Given the description of an element on the screen output the (x, y) to click on. 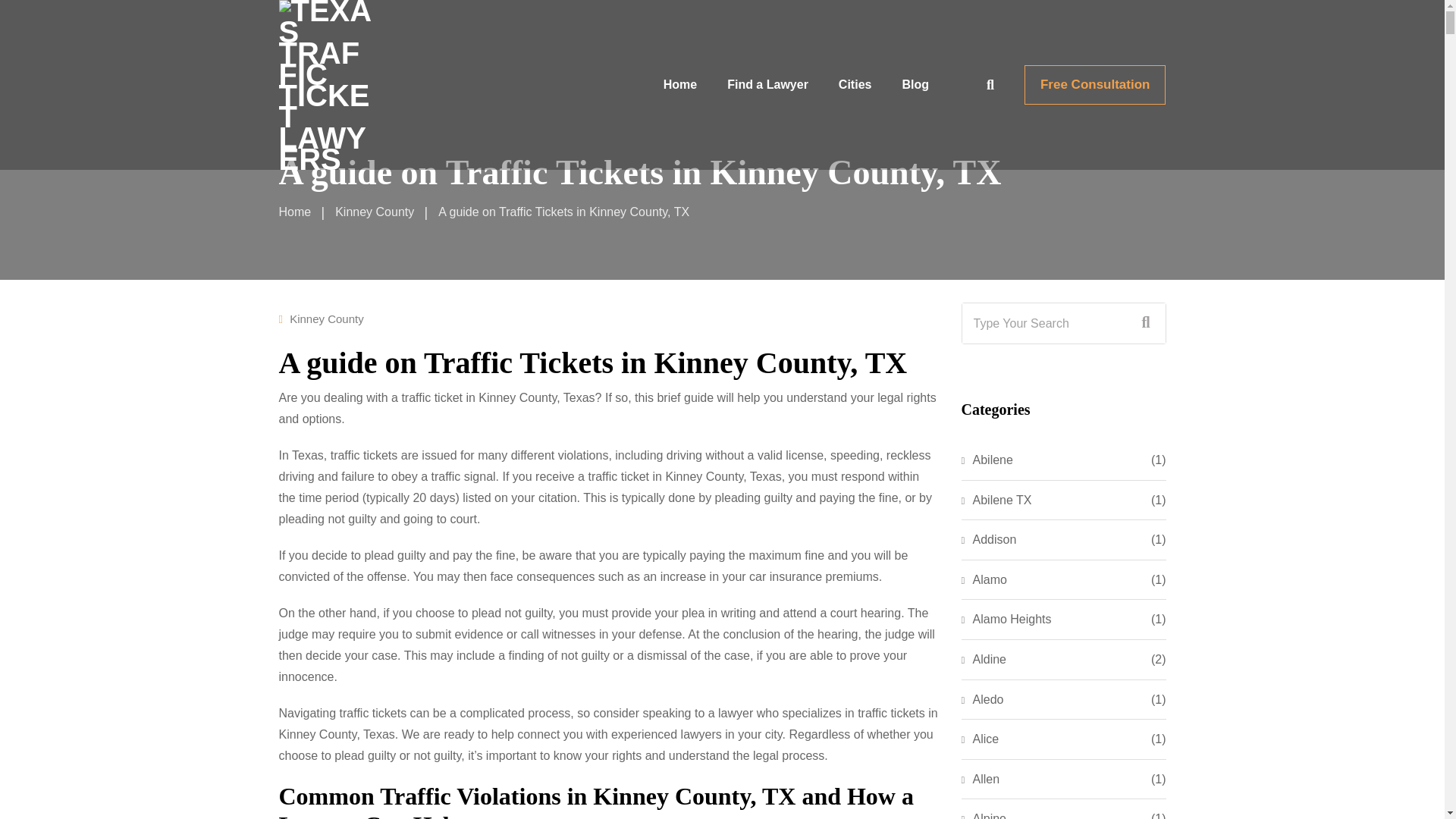
Alice (979, 739)
Addison (988, 539)
Aldine (983, 659)
Alamo Heights (1005, 619)
Alpine (983, 814)
Abilene TX (996, 500)
Home (295, 211)
Alamo (983, 579)
Free Consultation (1095, 84)
Kinney County (373, 211)
Aledo (982, 700)
Abilene (986, 460)
Kinney County (326, 318)
Find a Lawyer (767, 84)
Allen (980, 779)
